Given the description of an element on the screen output the (x, y) to click on. 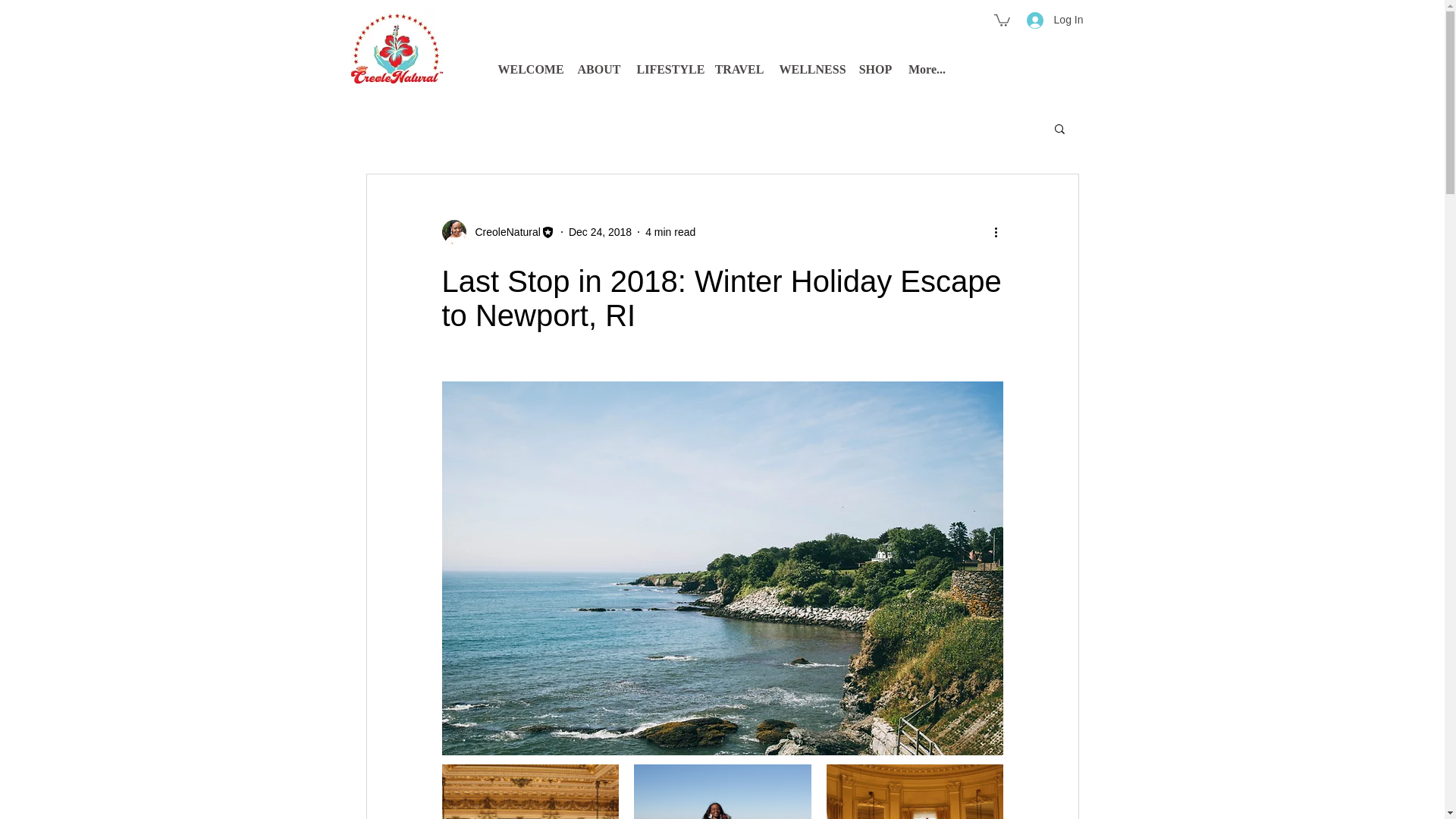
CreoleNatural (497, 232)
4 min read (670, 232)
Log In (1055, 20)
SHOP (875, 68)
CreoleNatural (502, 232)
WELLNESS (810, 68)
ABOUT (598, 68)
WELCOME (529, 68)
LIFESTYLE (667, 68)
TRAVEL (738, 68)
